Given the description of an element on the screen output the (x, y) to click on. 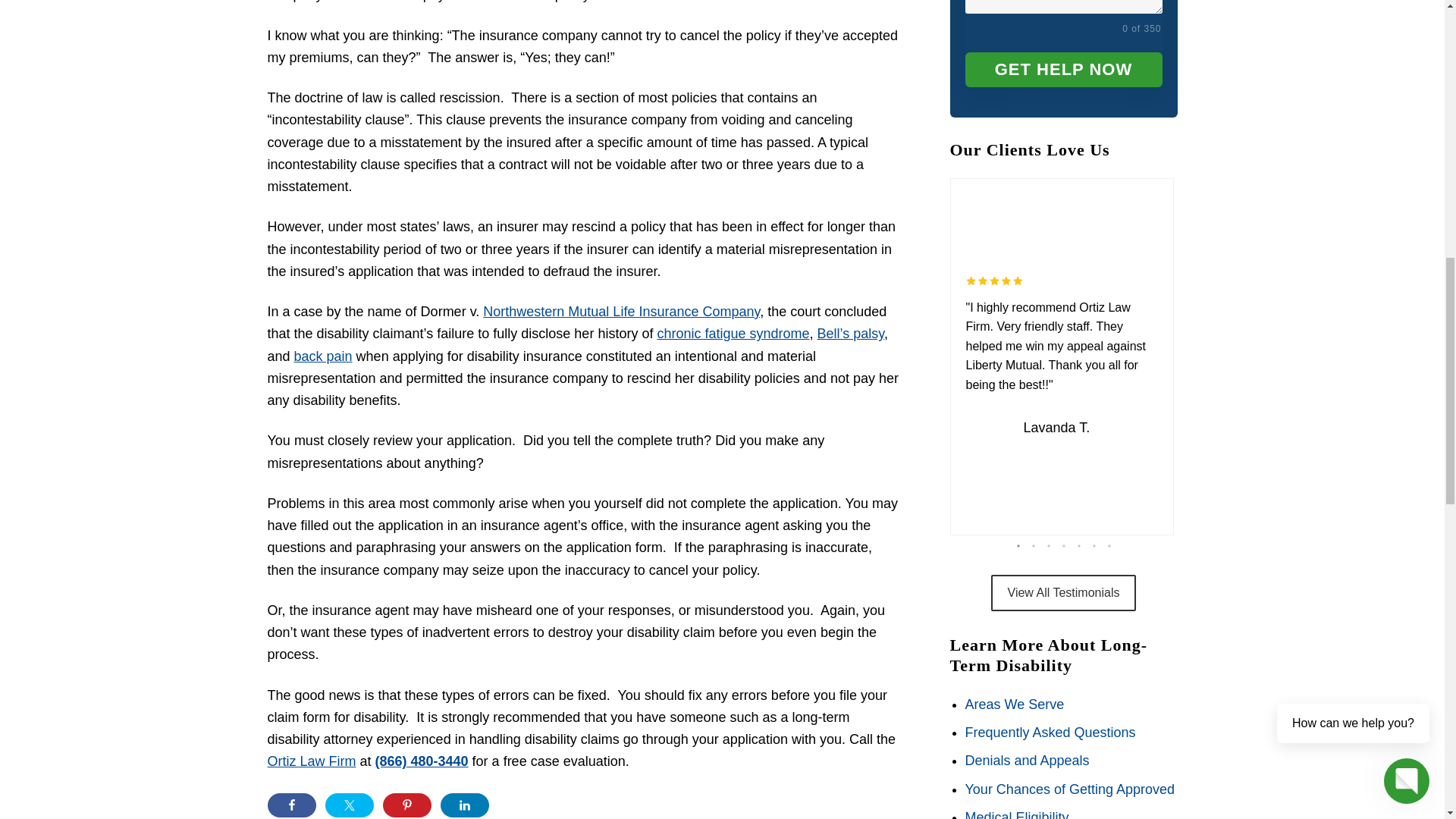
Share on Facebook (290, 805)
Share on Twitter (348, 805)
Share on Pinterest (405, 805)
Stars (994, 280)
Share on LinkedIn (463, 805)
